Given the description of an element on the screen output the (x, y) to click on. 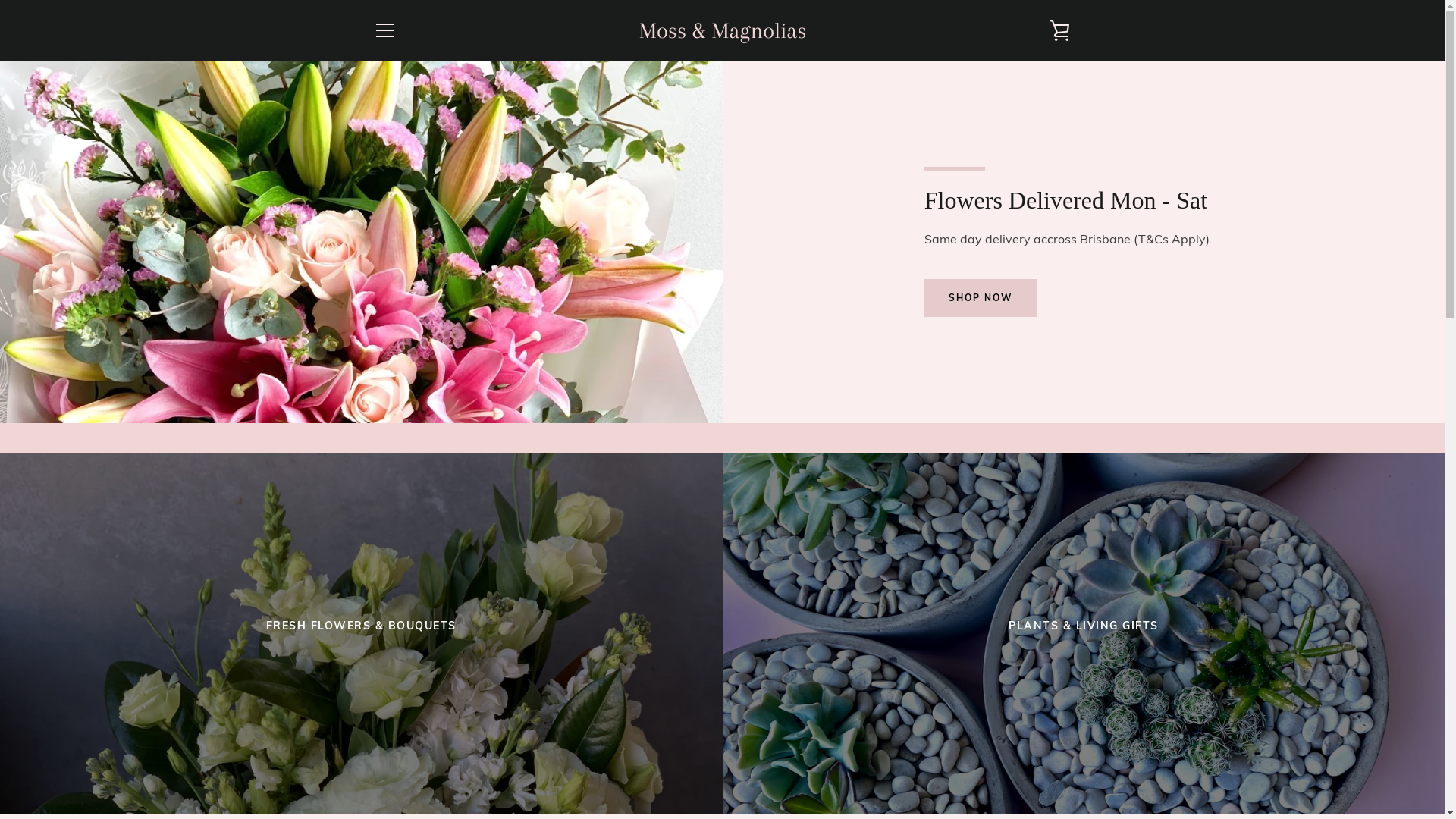
SEARCH Element type: text (393, 609)
MENU Element type: text (384, 30)
Skip to content Element type: text (0, 0)
Moss & Magnolias Element type: text (735, 756)
SHOP NOW Element type: text (980, 297)
SUBSCRIBE Element type: text (1031, 679)
Powered by Shopify Element type: text (769, 766)
CONTACT US Element type: text (405, 632)
VIEW CART Element type: text (1059, 30)
